Given the description of an element on the screen output the (x, y) to click on. 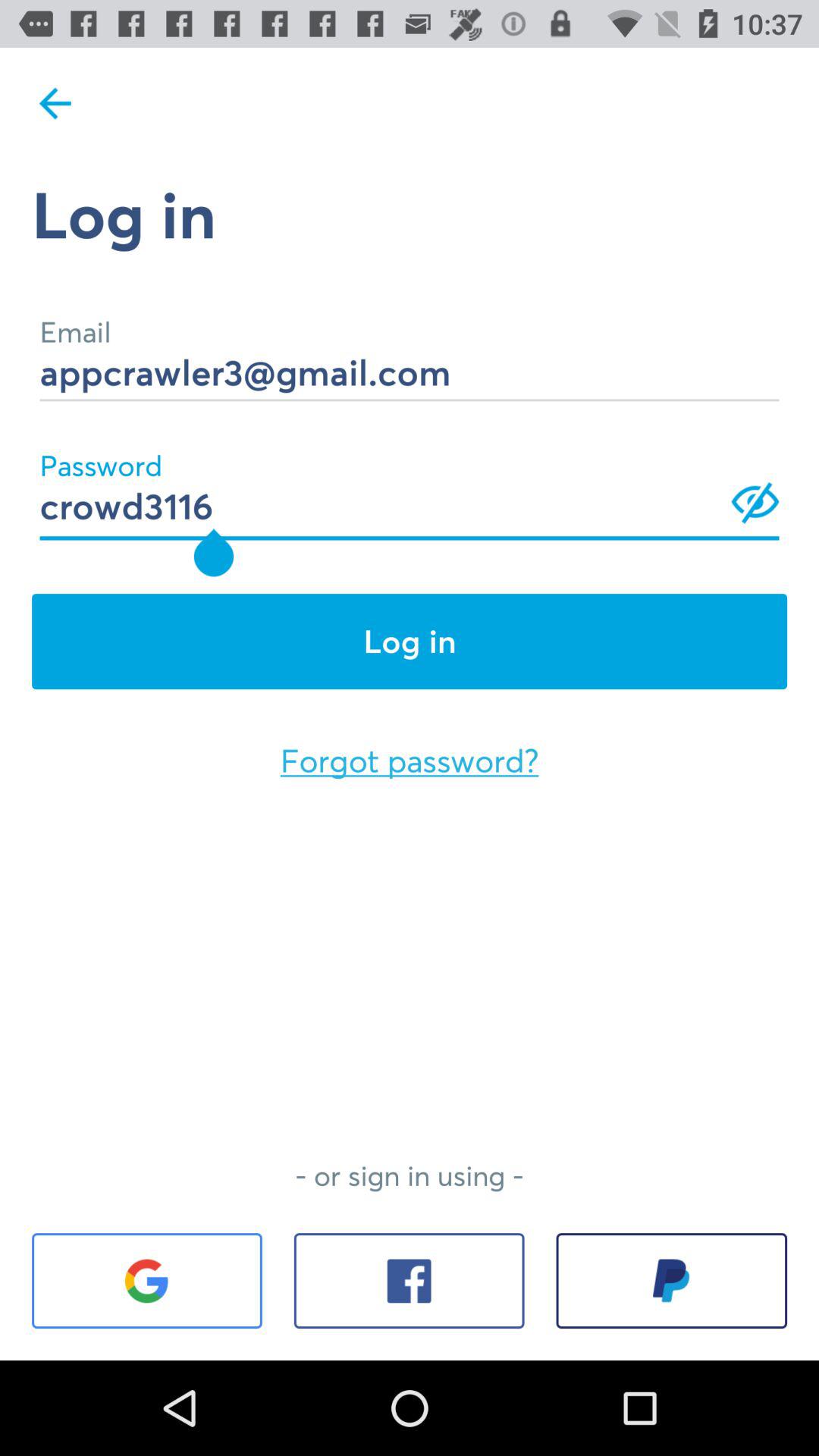
swipe until appcrawler3@gmail.com (409, 351)
